Given the description of an element on the screen output the (x, y) to click on. 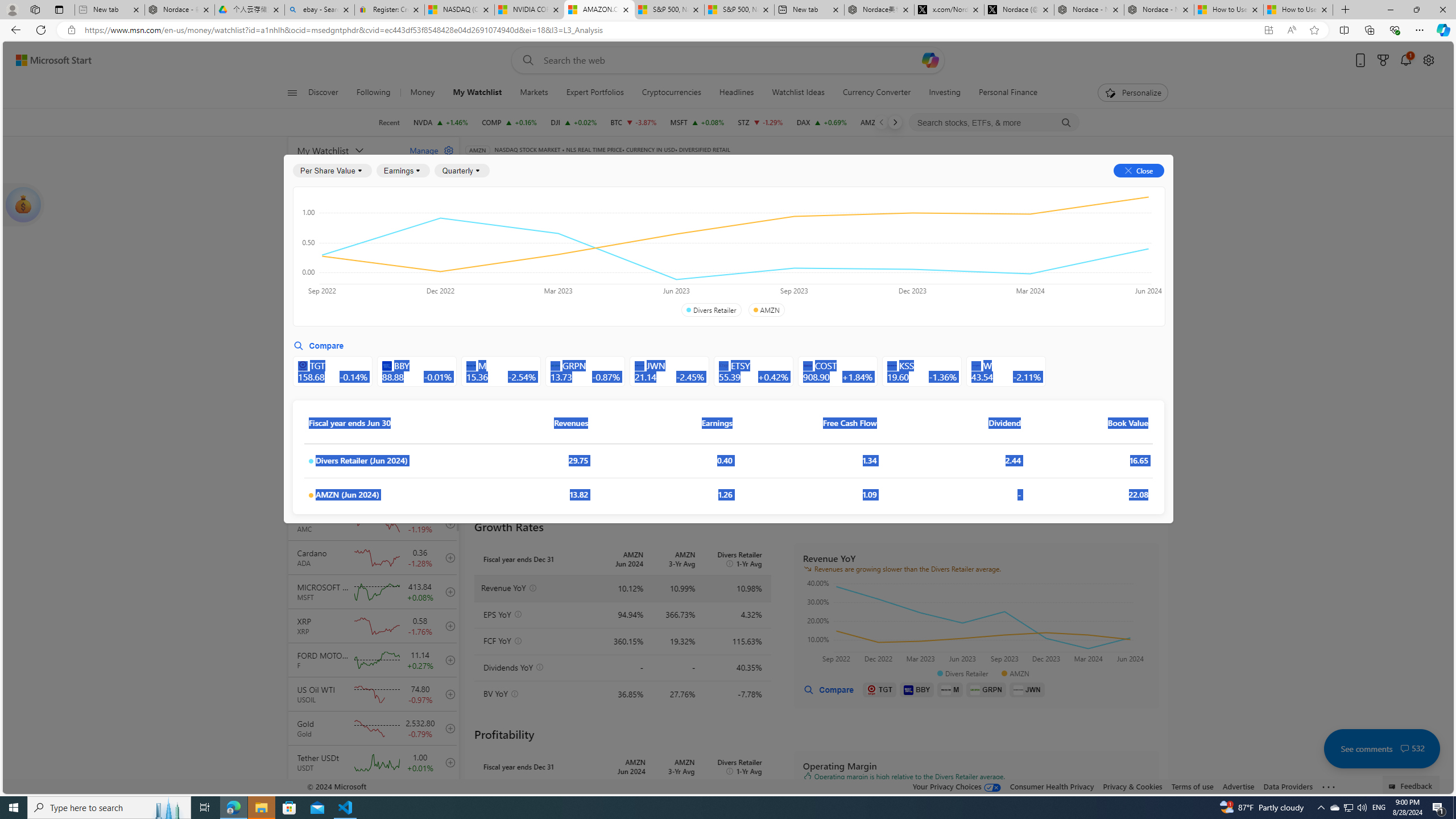
Nordace (@NordaceOfficial) / X (1018, 9)
Quarterly (461, 170)
My Watchlist (477, 92)
See comments 532 (1381, 748)
Manage (427, 150)
Markets (533, 92)
M (950, 689)
Investors (1009, 188)
Privacy & Cookies (1131, 786)
BTC Bitcoin decrease 60,049.35 -2,320.91 -3.87% (632, 122)
Class: cwt-icon-vector (1404, 748)
